Given the description of an element on the screen output the (x, y) to click on. 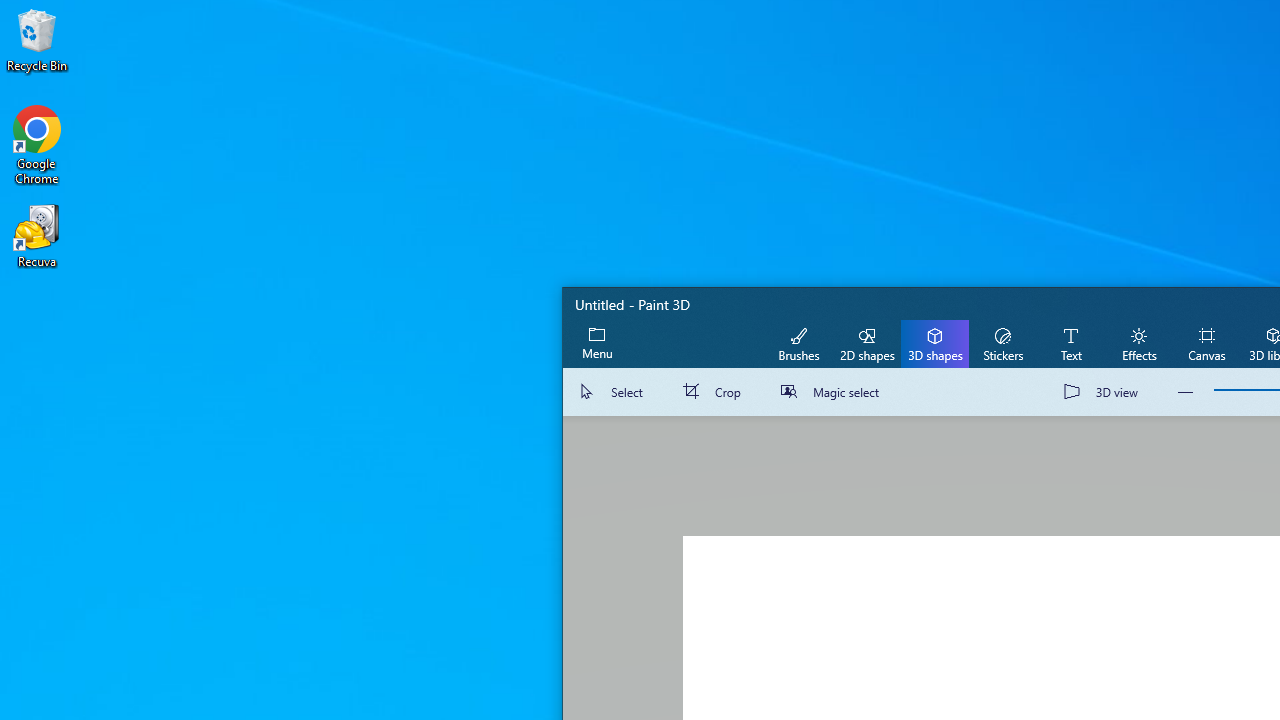
Expand menu (597, 343)
Crop (715, 391)
Stickers (1002, 343)
Magic select (833, 391)
Zoom out (1185, 391)
Select (614, 391)
Brushes (799, 343)
3D shapes (934, 343)
Canvas (1206, 343)
Effects (1138, 343)
Text (1070, 343)
3D view (1105, 391)
2D shapes (867, 343)
